Given the description of an element on the screen output the (x, y) to click on. 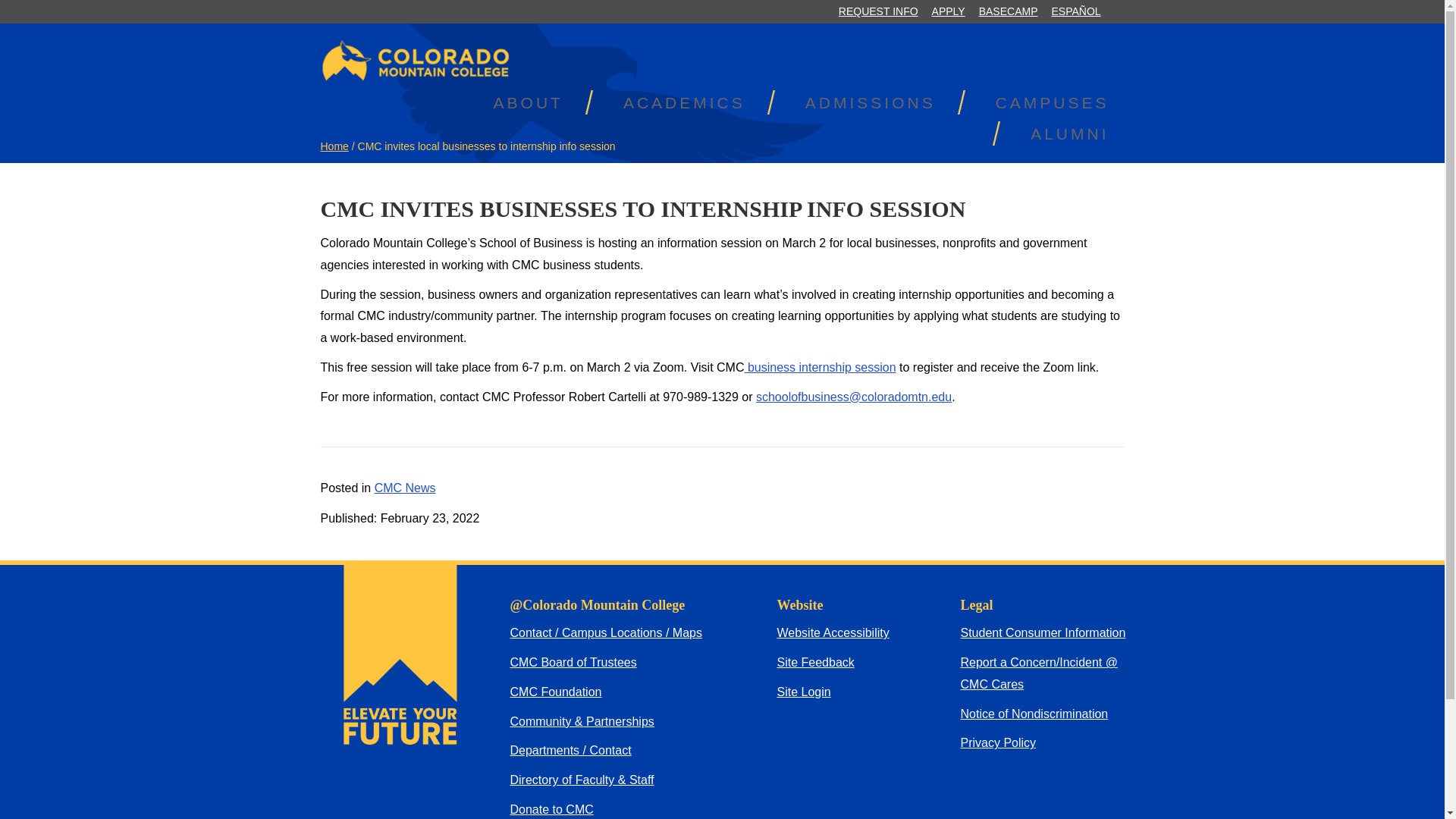
elevate-banner-yellow (399, 651)
Open site search (1116, 12)
APPLY (948, 11)
REQUEST INFO (877, 11)
BASECAMP (1008, 11)
